Given the description of an element on the screen output the (x, y) to click on. 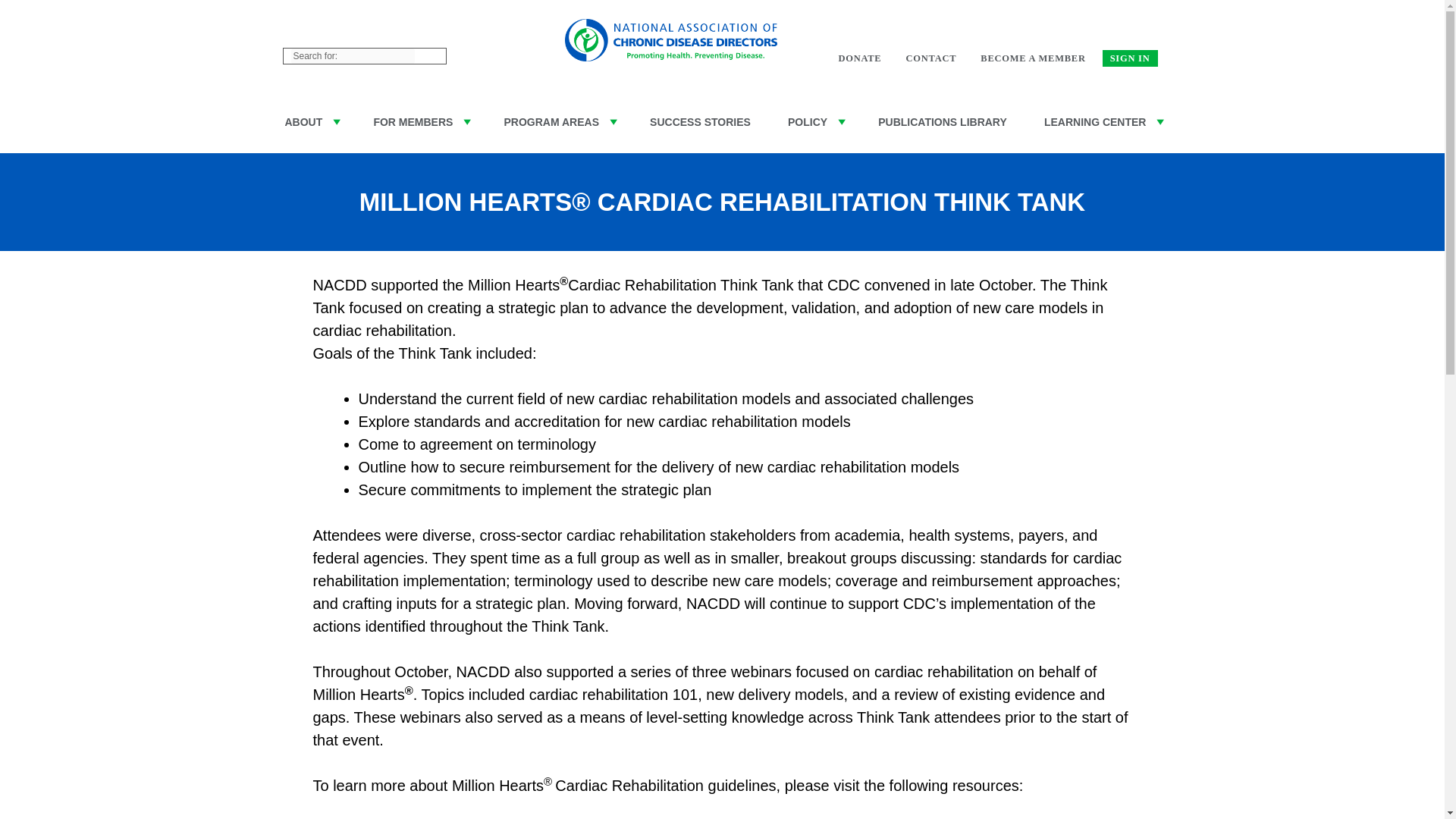
Search (423, 58)
SIGN IN (1129, 57)
FOR MEMBERS (419, 122)
ABOUT (309, 122)
PROGRAM AREAS (558, 122)
DONATE (858, 57)
CONTACT (930, 57)
Search for: (352, 55)
BECOME A MEMBER (1032, 57)
